Given the description of an element on the screen output the (x, y) to click on. 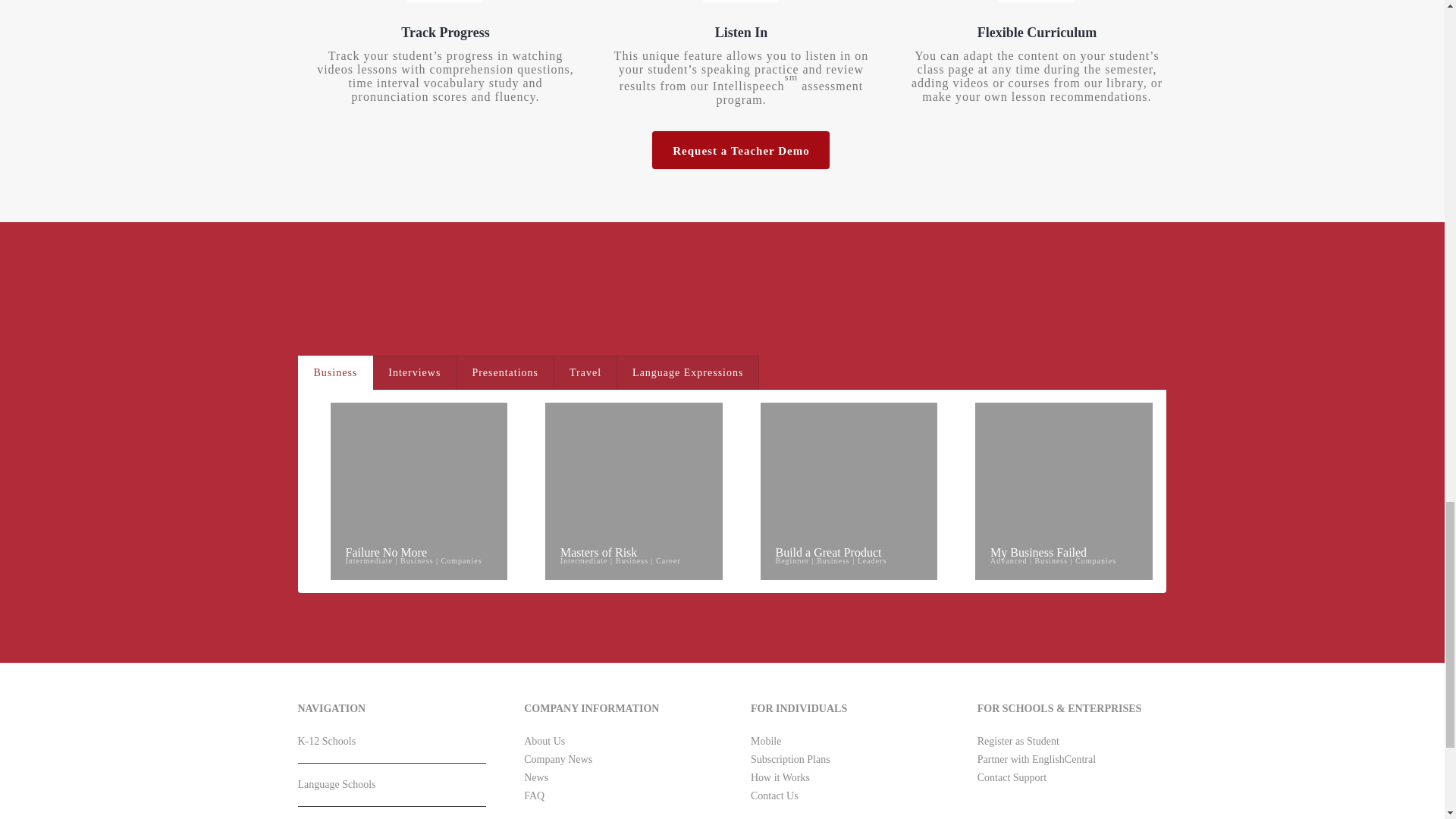
Travel (584, 372)
Language Expressions (687, 372)
FAQ (534, 795)
News (536, 777)
K-12 Schools (391, 747)
Request a Teacher Demo (740, 149)
Interviews (413, 372)
Language Schools (391, 790)
Company News (558, 758)
About Us (544, 740)
